Given the description of an element on the screen output the (x, y) to click on. 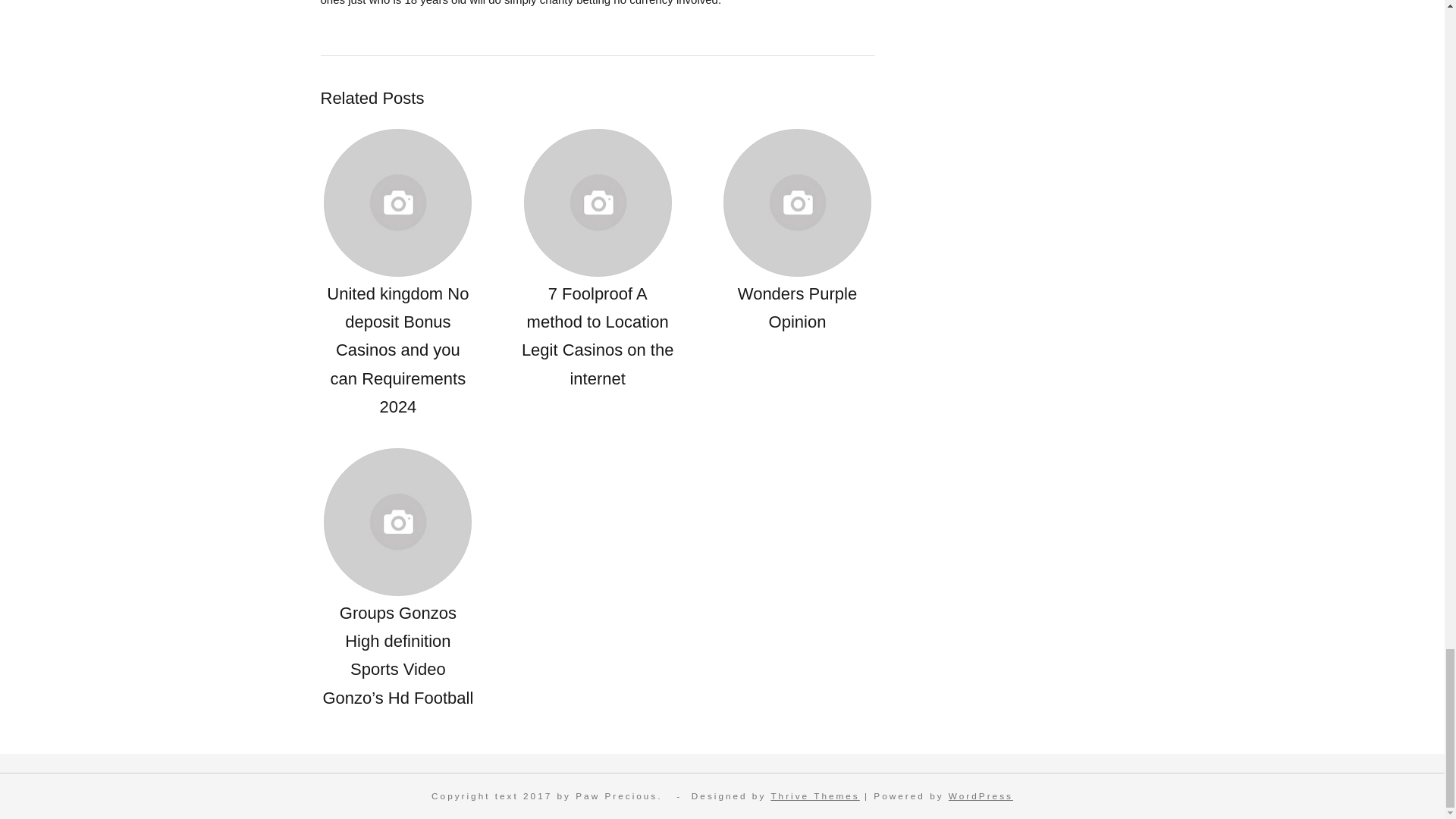
Thrive Themes (814, 795)
WordPress (981, 795)
